Given the description of an element on the screen output the (x, y) to click on. 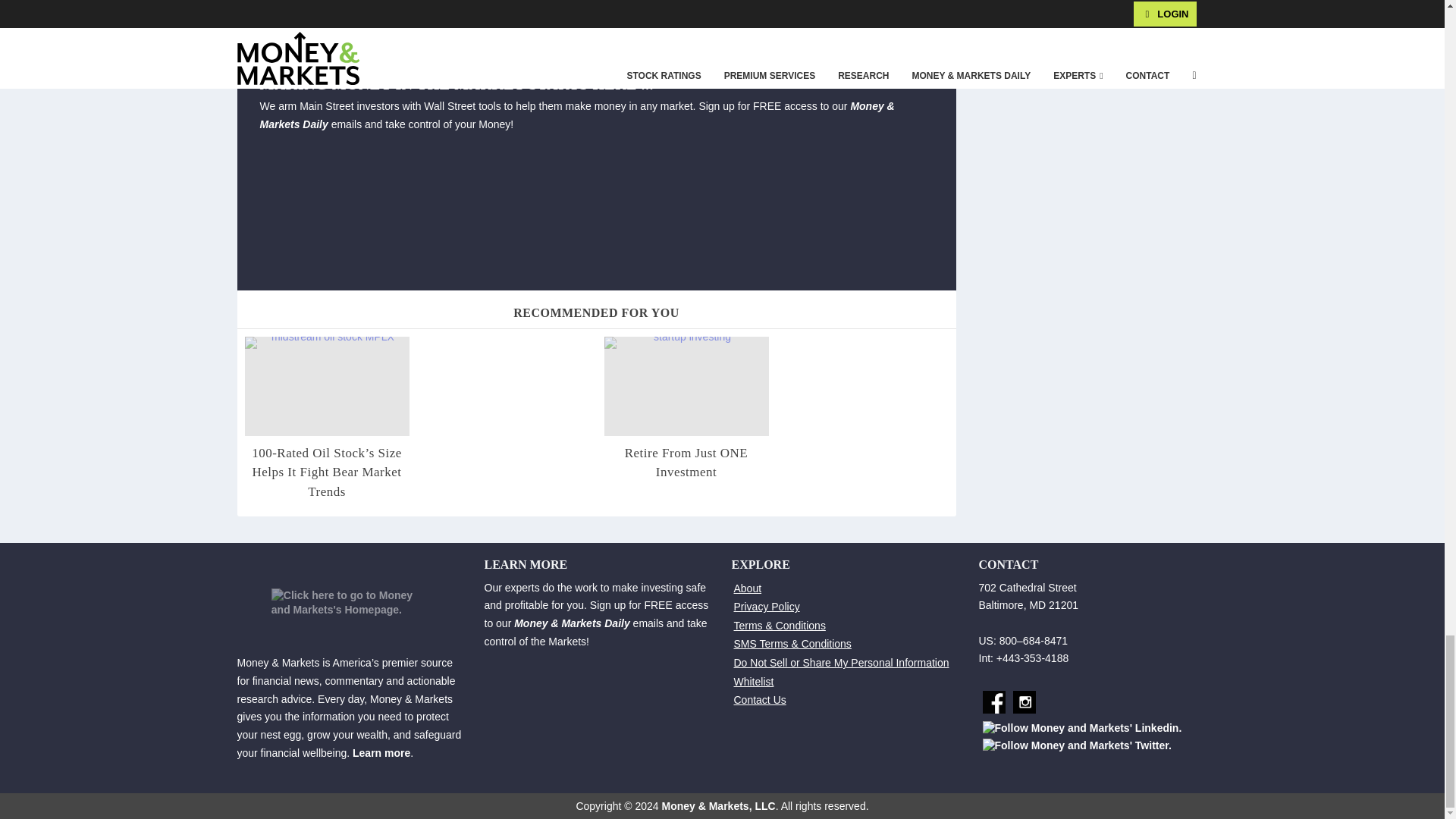
Learn more (381, 752)
Privacy Policy (766, 606)
Whitelist (753, 681)
Retire From Just ONE Investment (686, 462)
Retire From Just ONE Investment (686, 385)
Contact Us (759, 699)
Retire From Just ONE Investment (686, 462)
Do Not Sell or Share My Personal Information (841, 662)
About (747, 588)
